Given the description of an element on the screen output the (x, y) to click on. 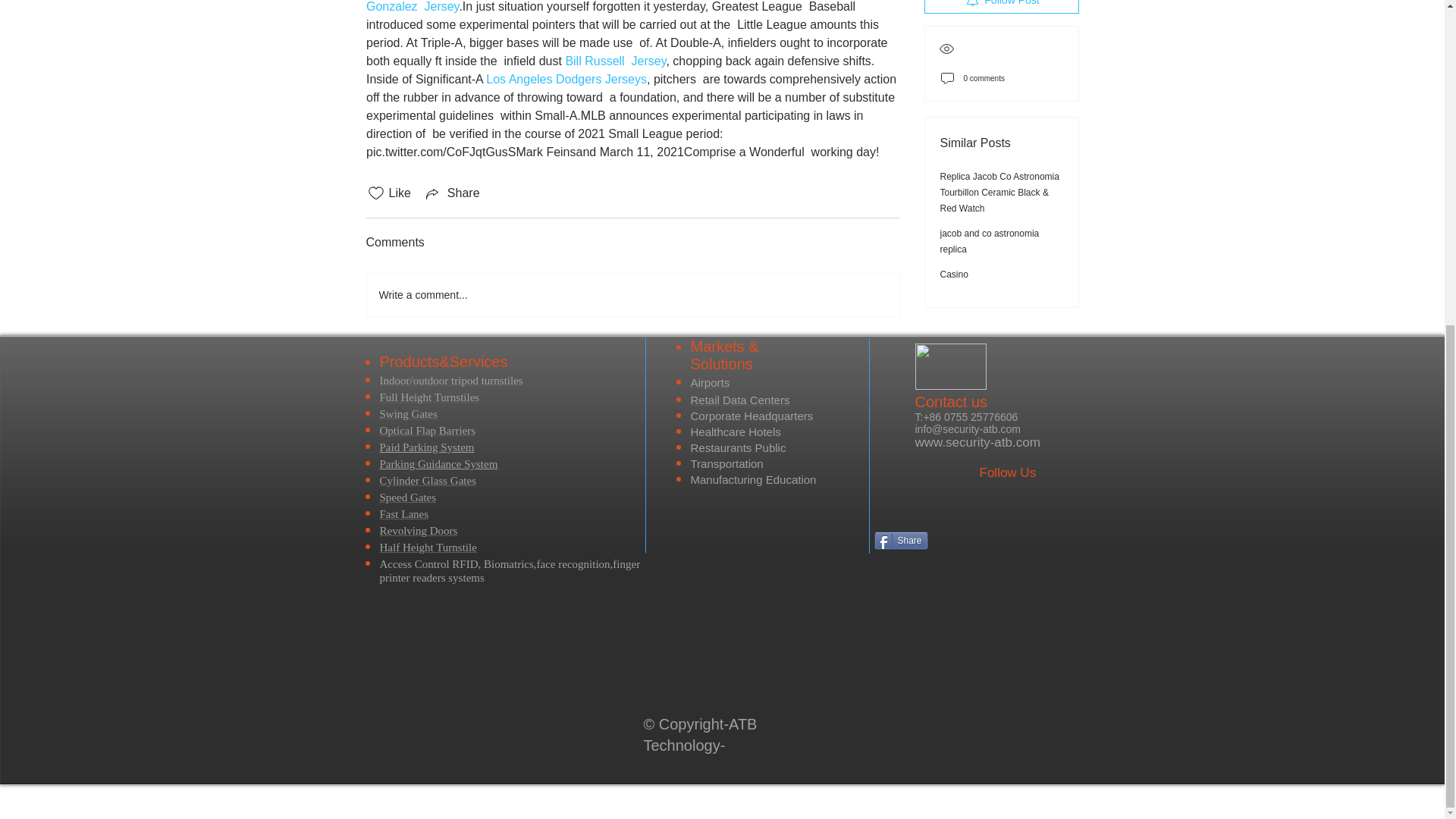
Share (900, 540)
Pin to Pinterest (1081, 539)
logo.png (949, 366)
Twitter Tweet (1008, 539)
VK Share (975, 539)
